Given the description of an element on the screen output the (x, y) to click on. 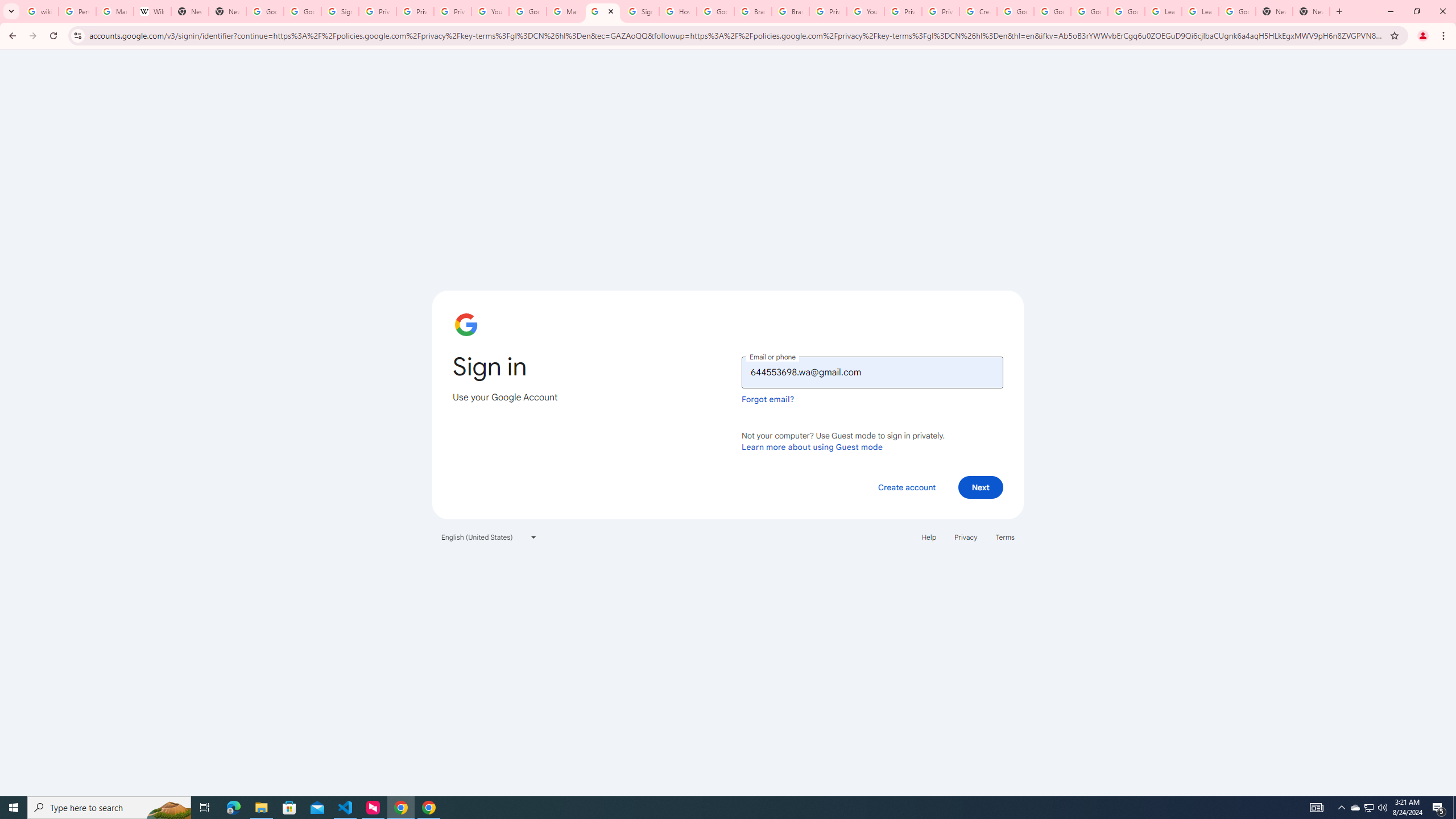
Google Account (1237, 11)
Sign in - Google Accounts (639, 11)
Sign in - Google Accounts (602, 11)
Forgot email? (767, 398)
Create your Google Account (977, 11)
Google Account Help (1088, 11)
Google Drive: Sign-in (302, 11)
Personalization & Google Search results - Google Search Help (77, 11)
